Given the description of an element on the screen output the (x, y) to click on. 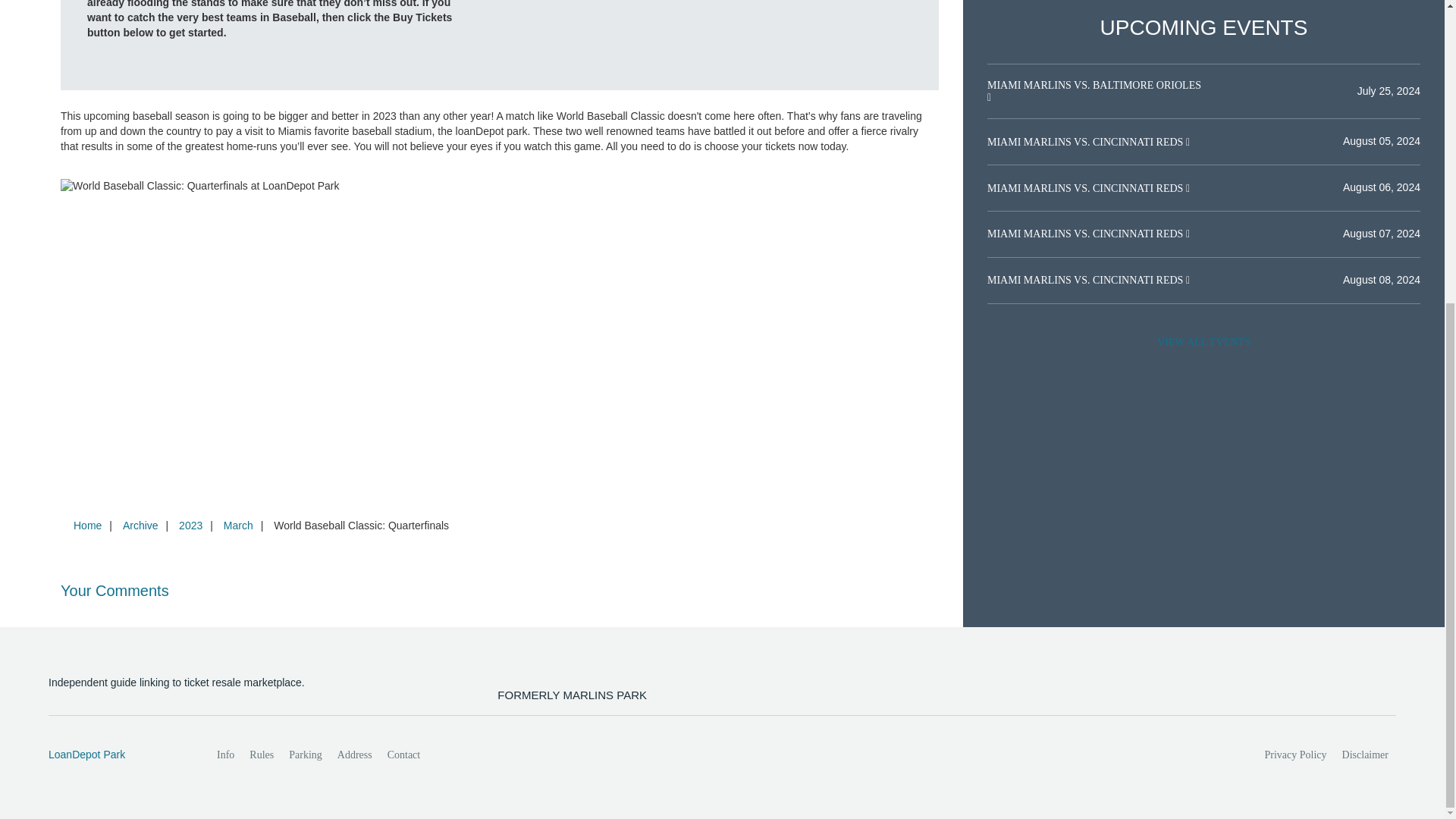
Home (87, 525)
Privacy Policy (1296, 755)
Address (355, 755)
2023 (190, 525)
Archive (140, 525)
VIEW ALL EVENTS (1203, 342)
Disclaimer (1365, 755)
Rules (261, 755)
Contact (404, 755)
LoanDepot Park (116, 754)
Info (225, 755)
Parking (305, 755)
World Baseball Classic: Quarterfinals at LoanDepot Park (719, 45)
March (237, 525)
